Given the description of an element on the screen output the (x, y) to click on. 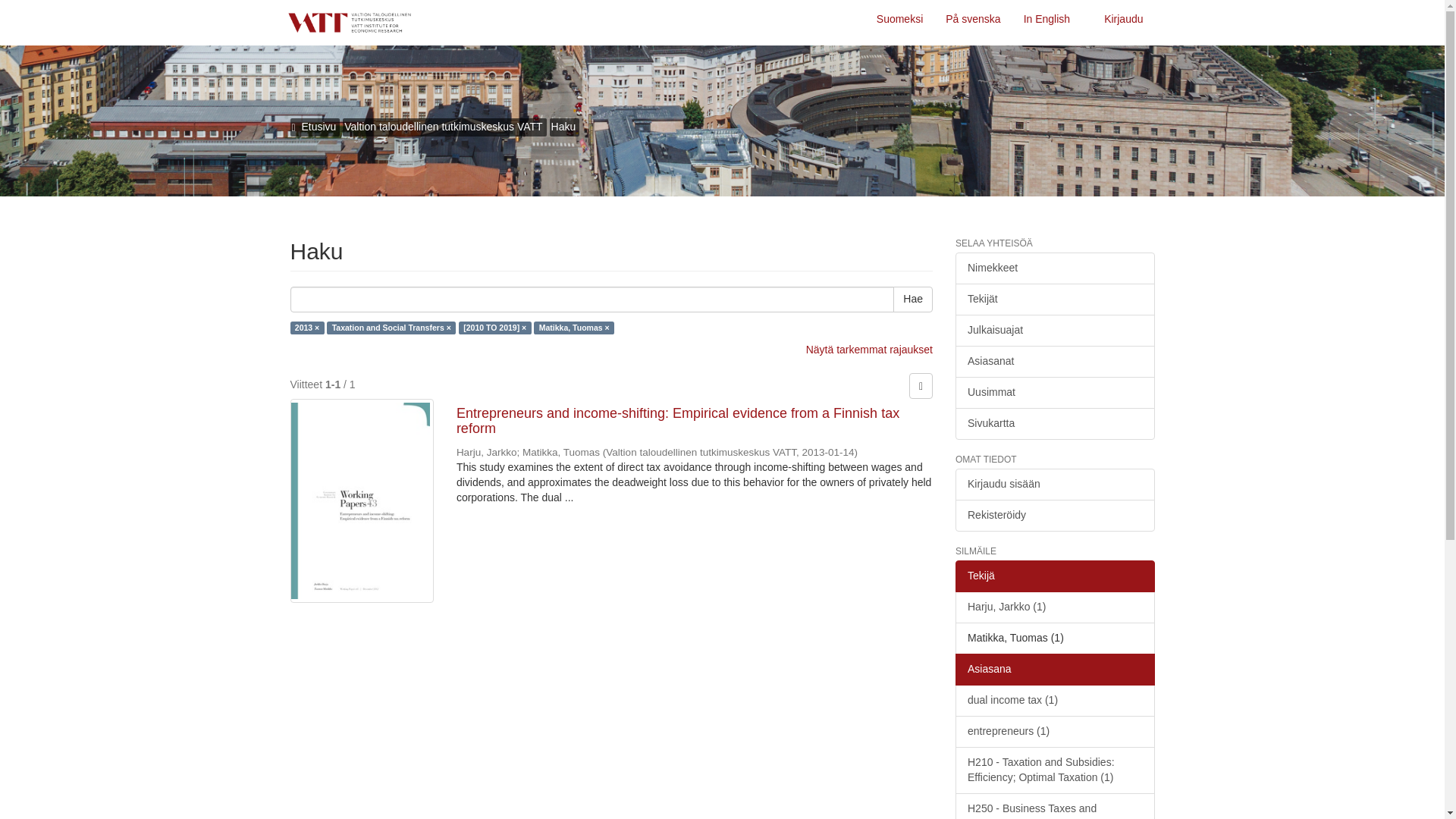
Valtion taloudellinen tutkimuskeskus VATT (442, 126)
Etusivu (318, 126)
Kirjaudu (1123, 22)
Suomeksi (899, 22)
In English (1046, 22)
Hae (913, 299)
